Given the description of an element on the screen output the (x, y) to click on. 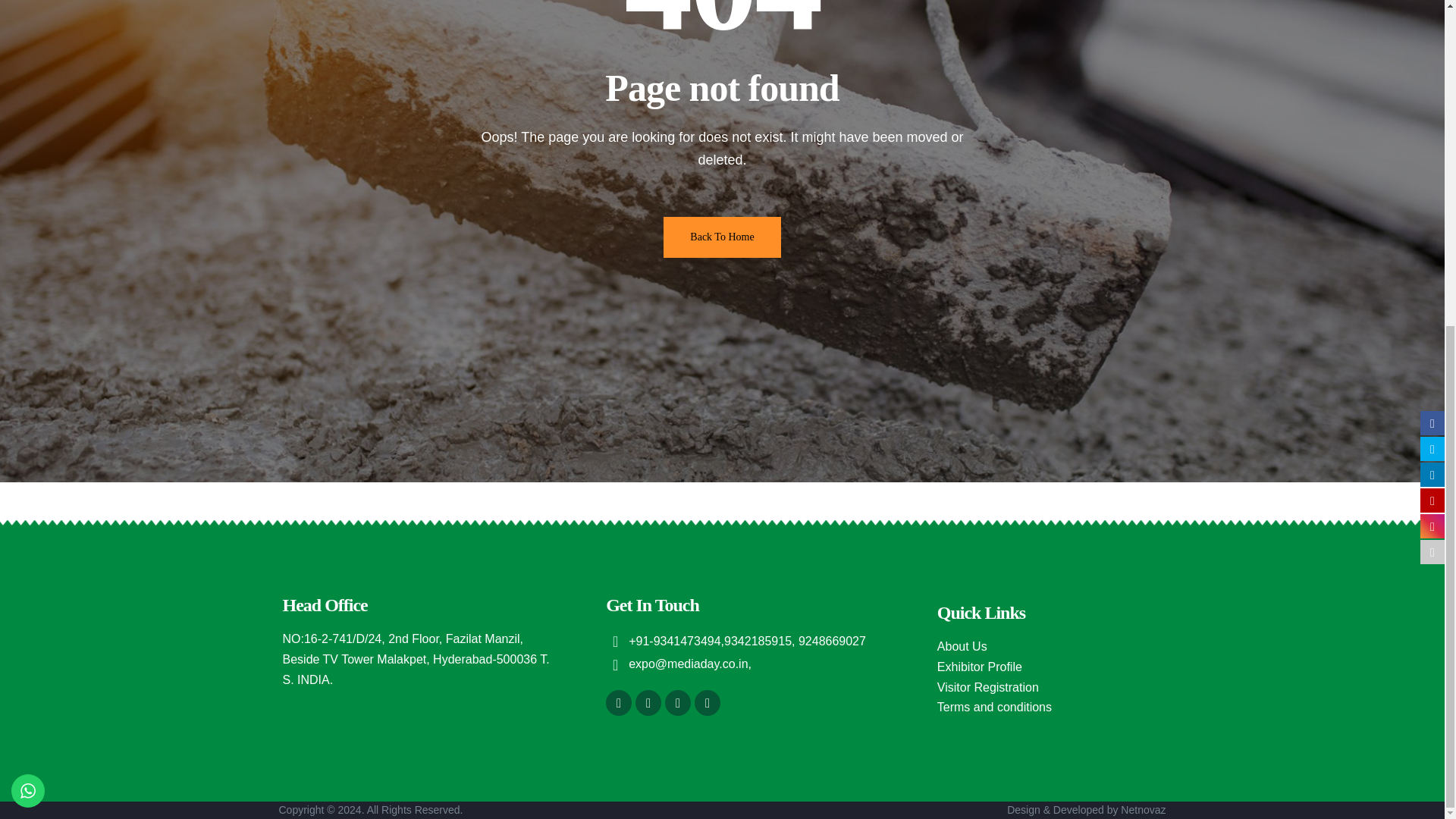
Back To Home (721, 237)
WhatsApp us (28, 255)
